Given the description of an element on the screen output the (x, y) to click on. 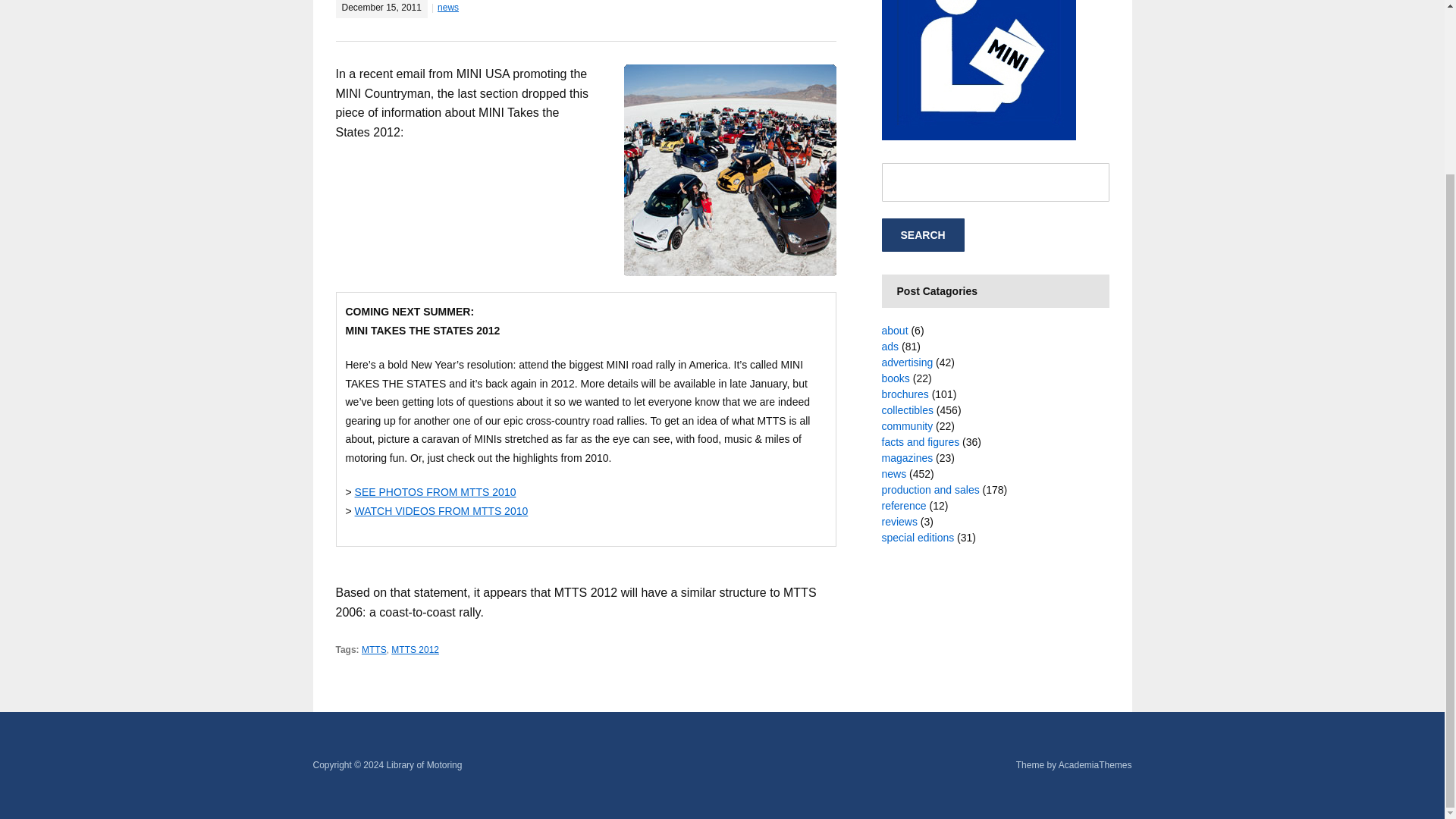
MTTS 2012 announcement (729, 170)
Search (921, 234)
